Given the description of an element on the screen output the (x, y) to click on. 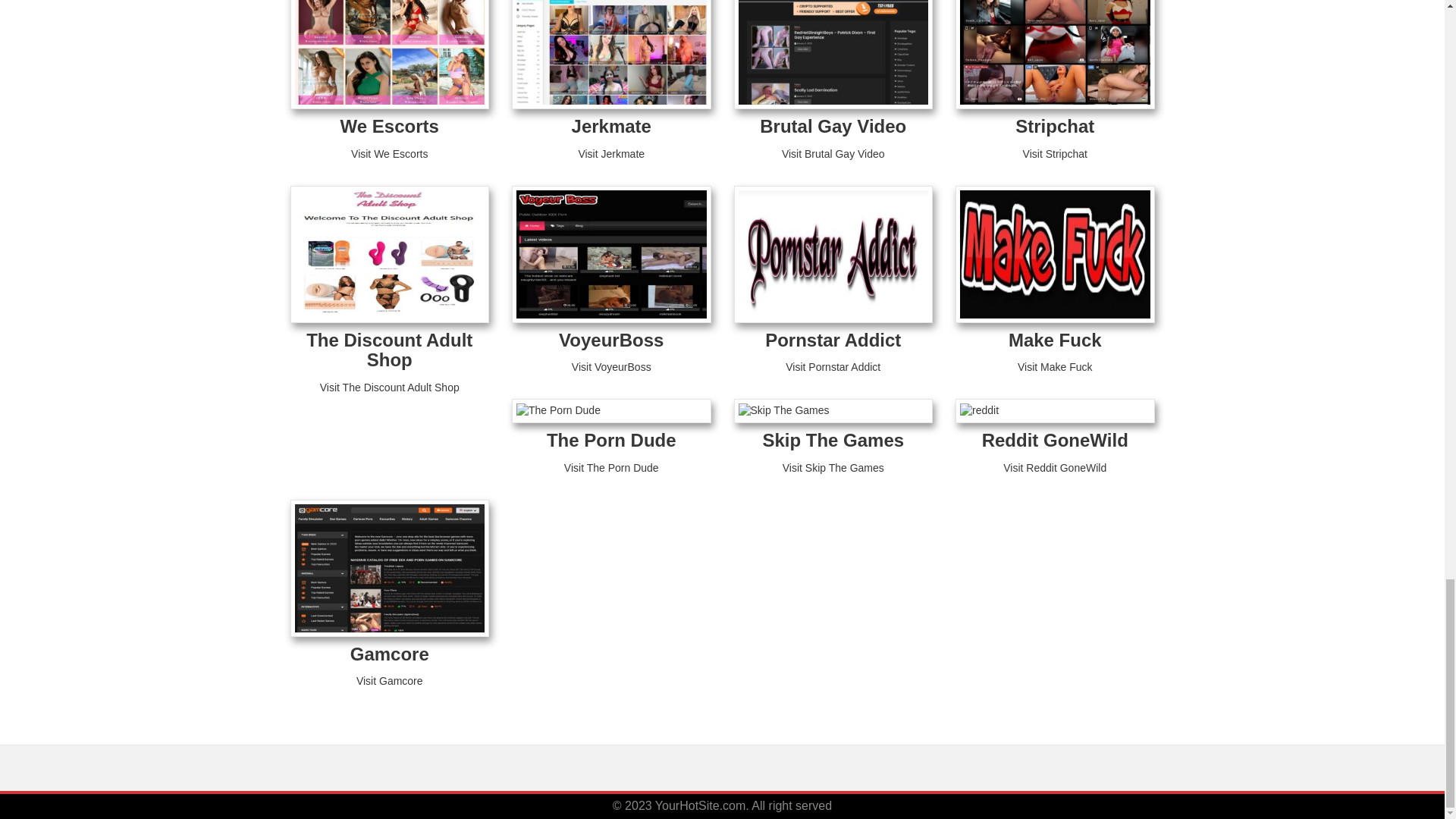
VoyeurBoss (611, 340)
Visit The Porn Dude (611, 467)
Visit Pornstar Addict (833, 367)
Skip The Games (832, 439)
We Escorts (389, 126)
The Discount Adult Shop (388, 350)
Pornstar Addict (833, 340)
Visit Skip The Games (833, 467)
Visit Brutal Gay Video (833, 153)
Stripchat (1054, 126)
The Porn Dude (612, 439)
Visit Make Fuck (1055, 367)
Visit VoyeurBoss (611, 367)
Visit We Escorts (389, 153)
Jerkmate (611, 126)
